Given the description of an element on the screen output the (x, y) to click on. 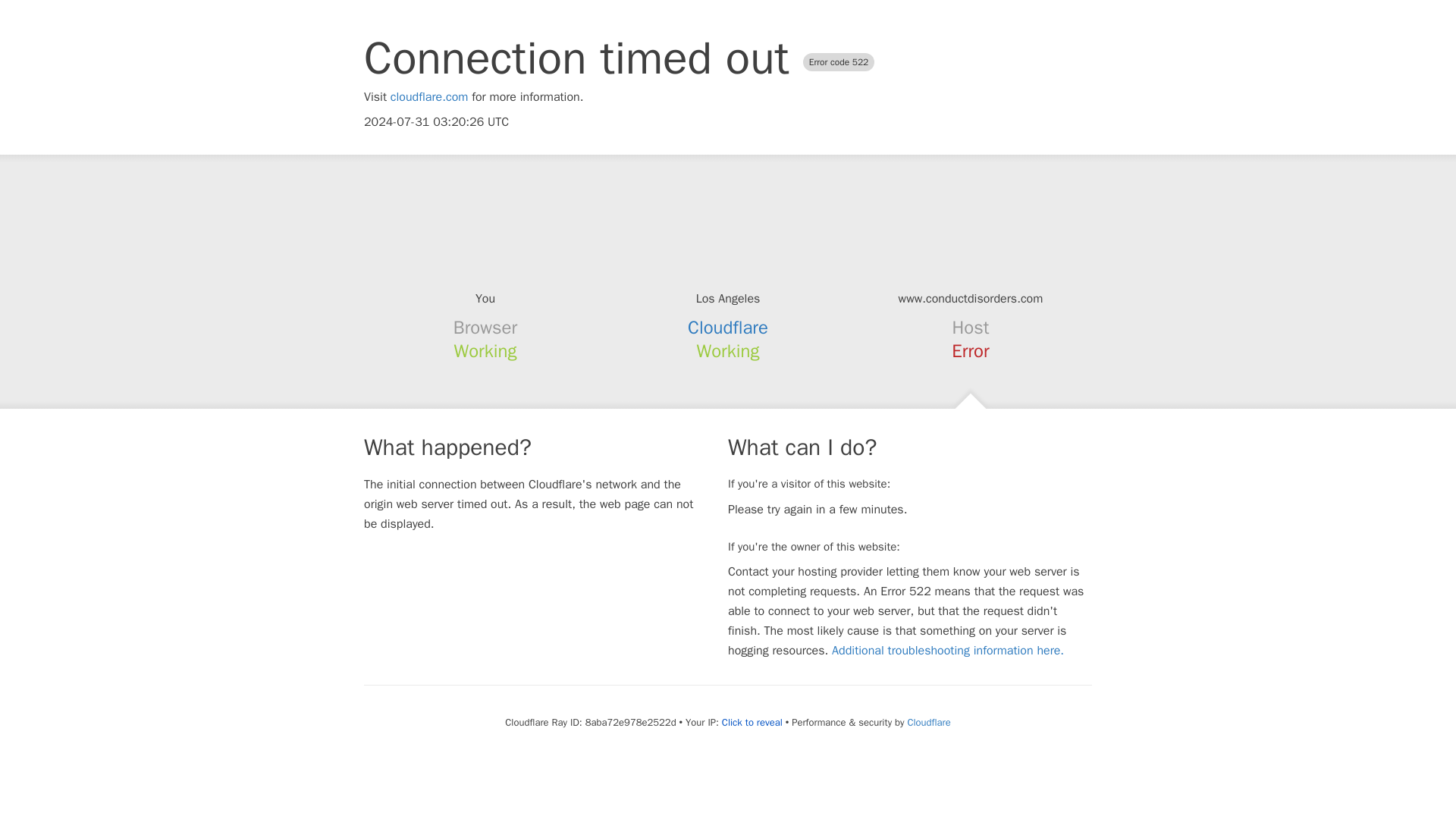
Click to reveal (752, 722)
cloudflare.com (429, 96)
Cloudflare (727, 327)
Additional troubleshooting information here. (947, 650)
Cloudflare (928, 721)
